Given the description of an element on the screen output the (x, y) to click on. 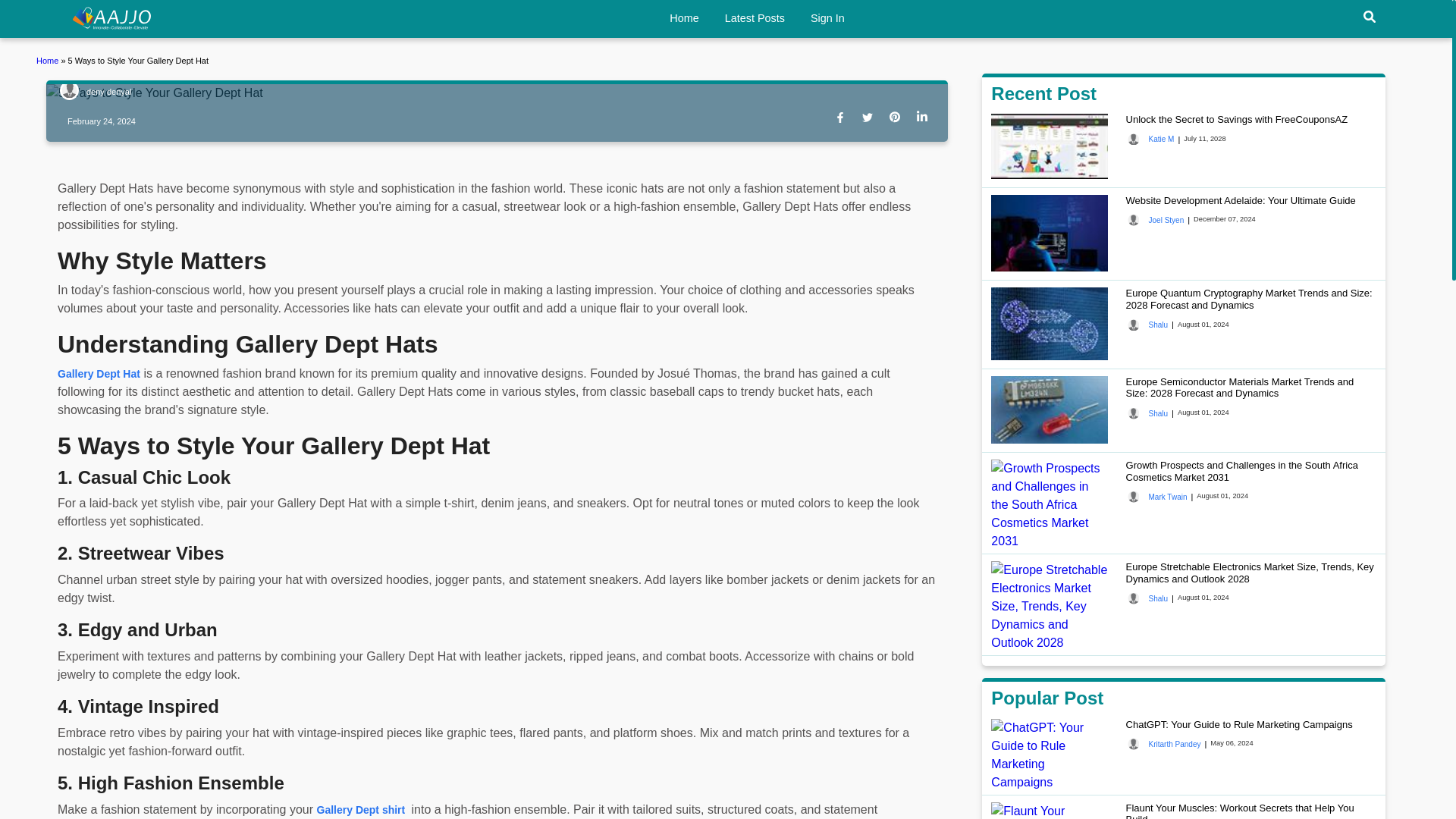
Linkedin (924, 118)
pinterest (897, 118)
twitter (870, 118)
Website Development Adelaide: Your Ultimate Guide (1240, 200)
Home (111, 17)
Latest Posts (754, 18)
Blog  Home (48, 60)
deny denyal (95, 92)
Katie M (1149, 139)
Shalu (1147, 324)
Joel Styen (1155, 219)
Unlock the Secret to Savings with FreeCouponsAZ (1236, 119)
Home (48, 60)
